Given the description of an element on the screen output the (x, y) to click on. 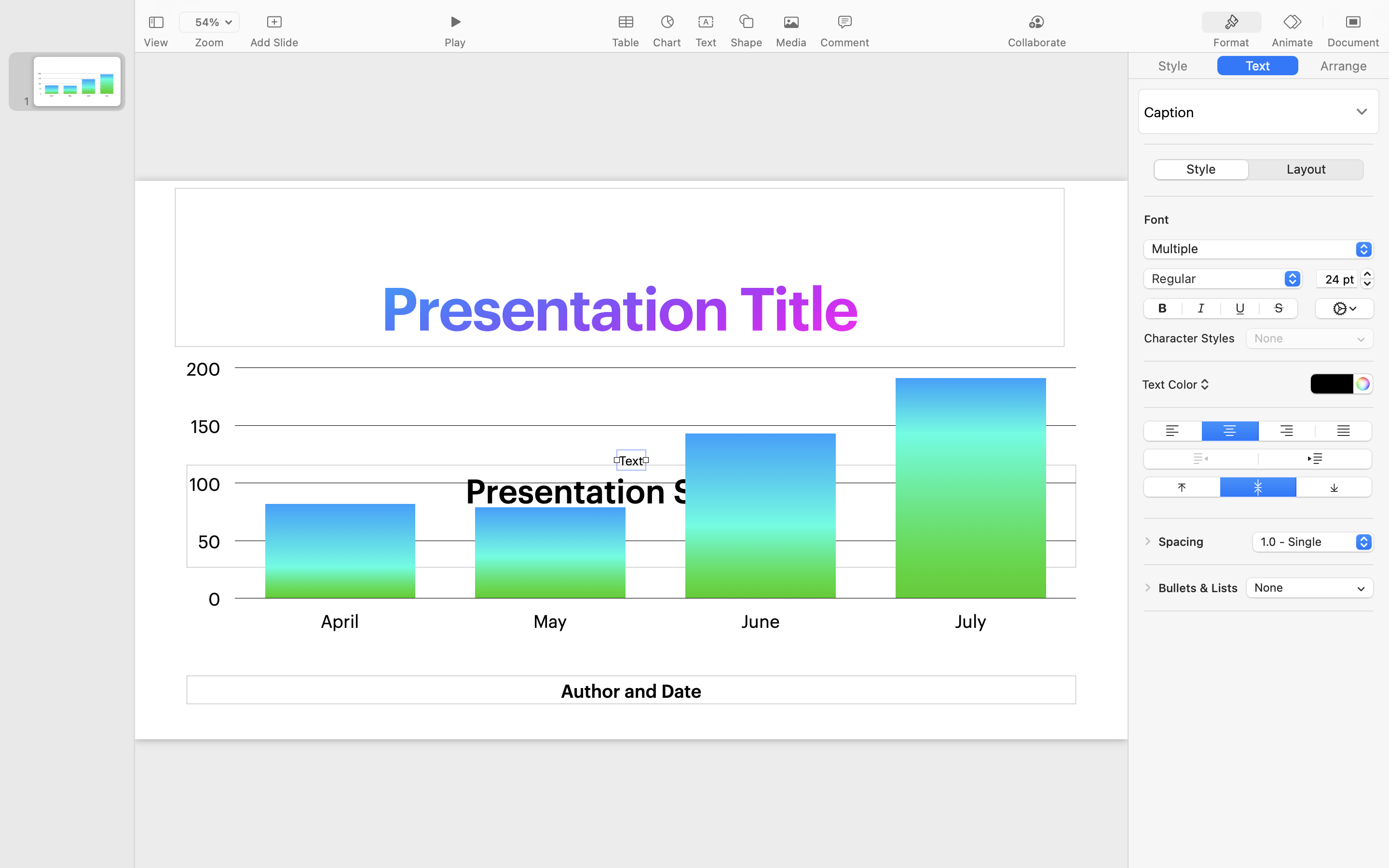
<AXUIElement 0x14574ddc0> {pid=1697} Element type: AXRadioGroup (1258, 65)
1.0 - Single Element type: AXPopUpButton (1313, 543)
Character Styles Element type: AXStaticText (1189, 337)
